Given the description of an element on the screen output the (x, y) to click on. 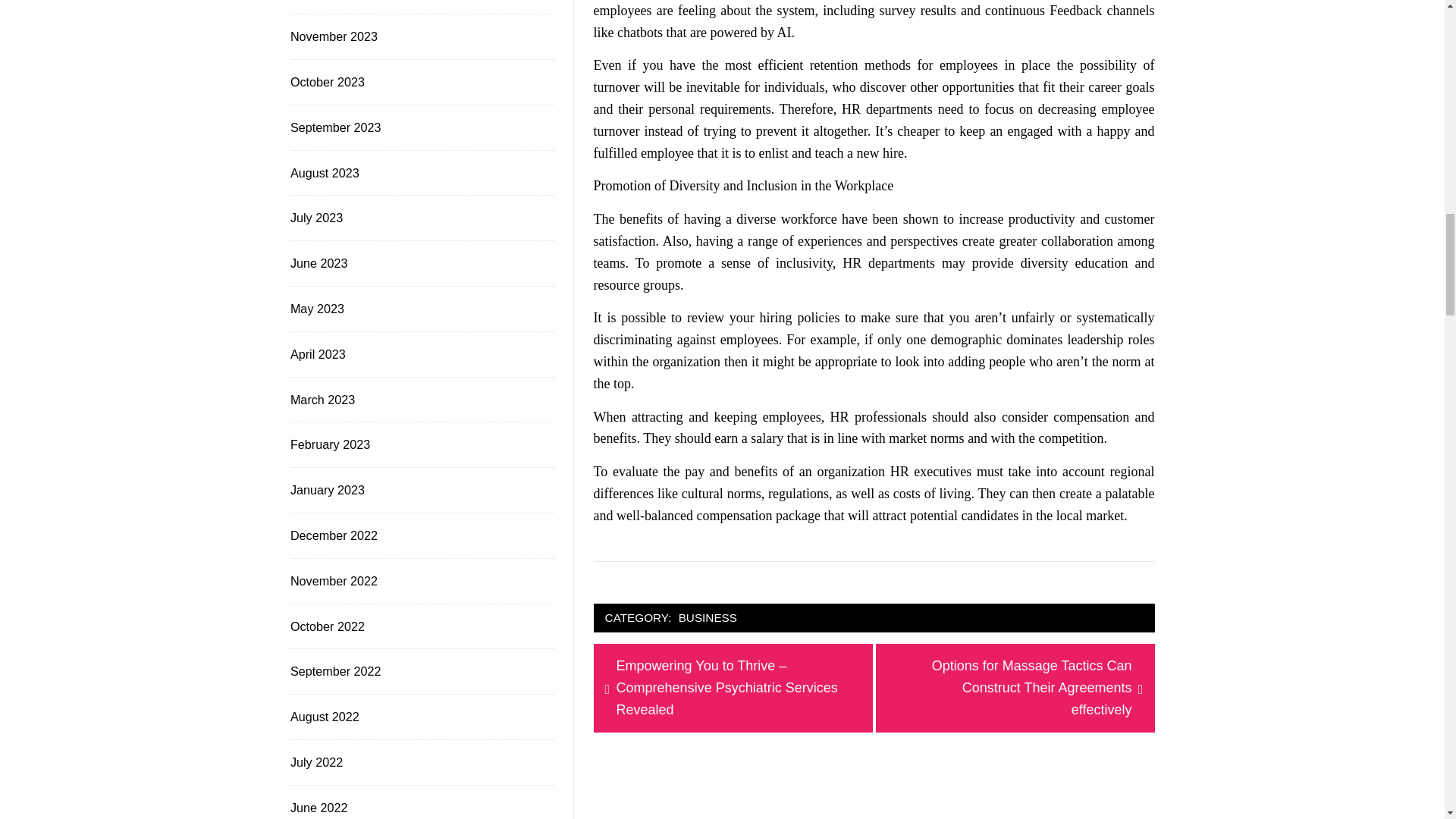
December 2023 (332, 1)
September 2023 (333, 127)
November 2023 (332, 36)
BUSINESS (708, 618)
October 2023 (325, 82)
August 2023 (322, 173)
